Given the description of an element on the screen output the (x, y) to click on. 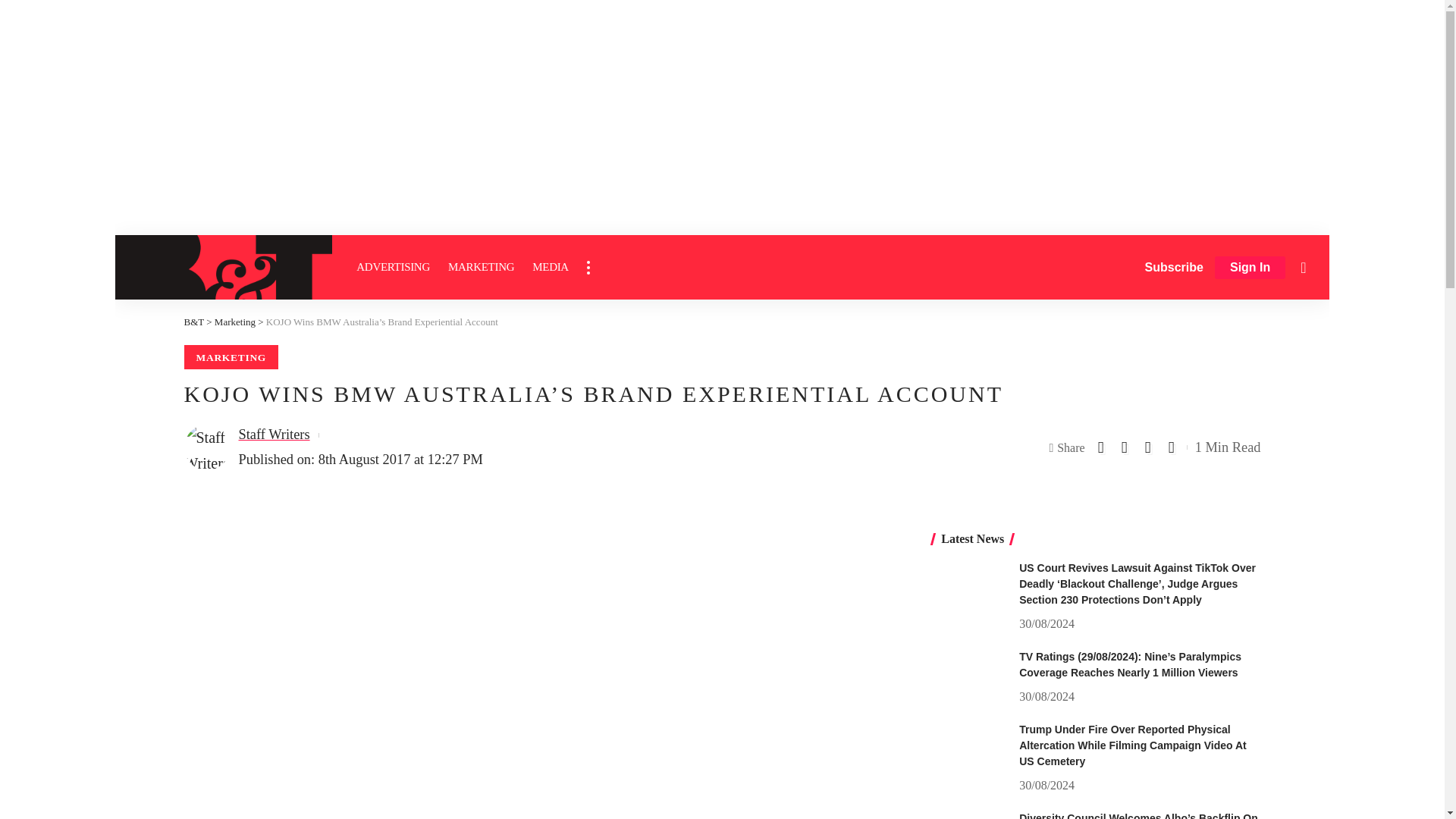
ADVERTISING (393, 267)
Go to the Marketing Category archives. (235, 321)
Subscribe (1174, 267)
Sign In (1249, 267)
MARKETING (480, 267)
